Given the description of an element on the screen output the (x, y) to click on. 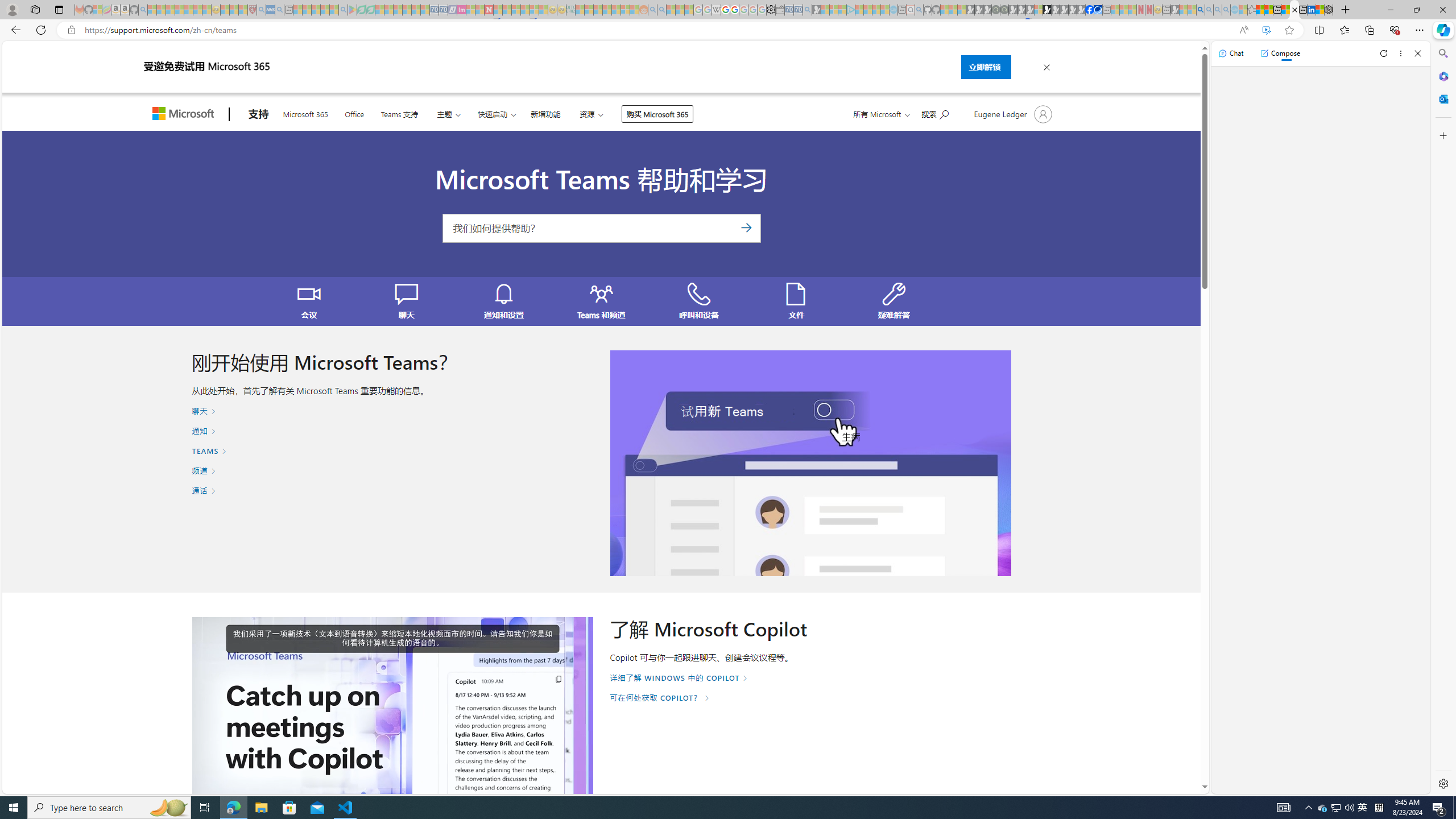
Microsoft-Report a Concern to Bing - Sleeping (97, 9)
Recipes - MSN - Sleeping (224, 9)
Nordace - Summer Adventures 2024 (1328, 9)
MSNBC - MSN - Sleeping (579, 9)
Bluey: Let's Play! - Apps on Google Play - Sleeping (352, 9)
Office (354, 112)
Compose (1279, 52)
Side bar (1443, 418)
